Given the description of an element on the screen output the (x, y) to click on. 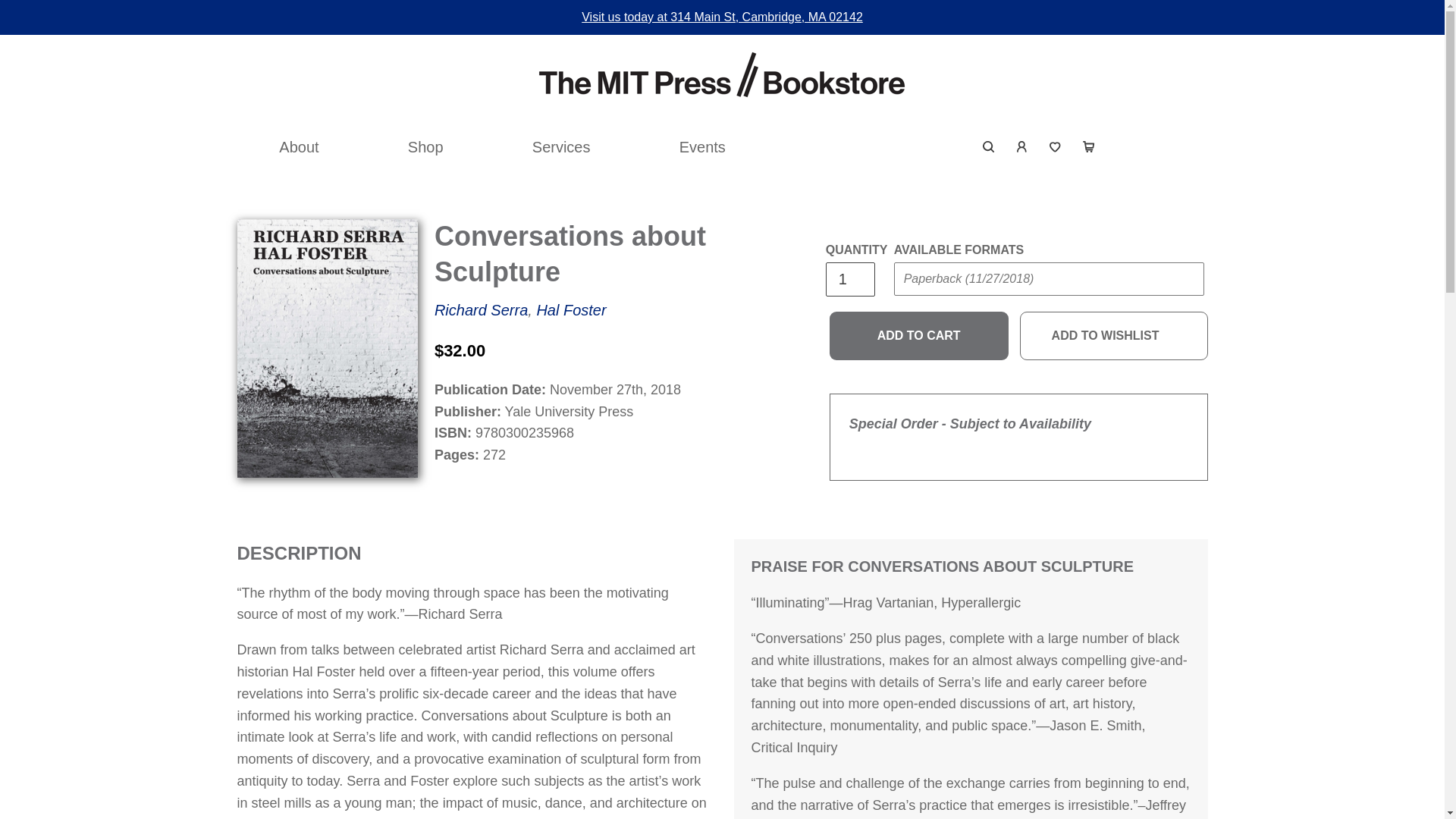
Add to cart (919, 336)
Hal Foster (570, 310)
Cart (1088, 146)
Log in (1022, 146)
ADD TO WISHLIST (1114, 336)
Add to cart (919, 336)
Events (702, 146)
Submit (1169, 135)
Services (561, 146)
